Given the description of an element on the screen output the (x, y) to click on. 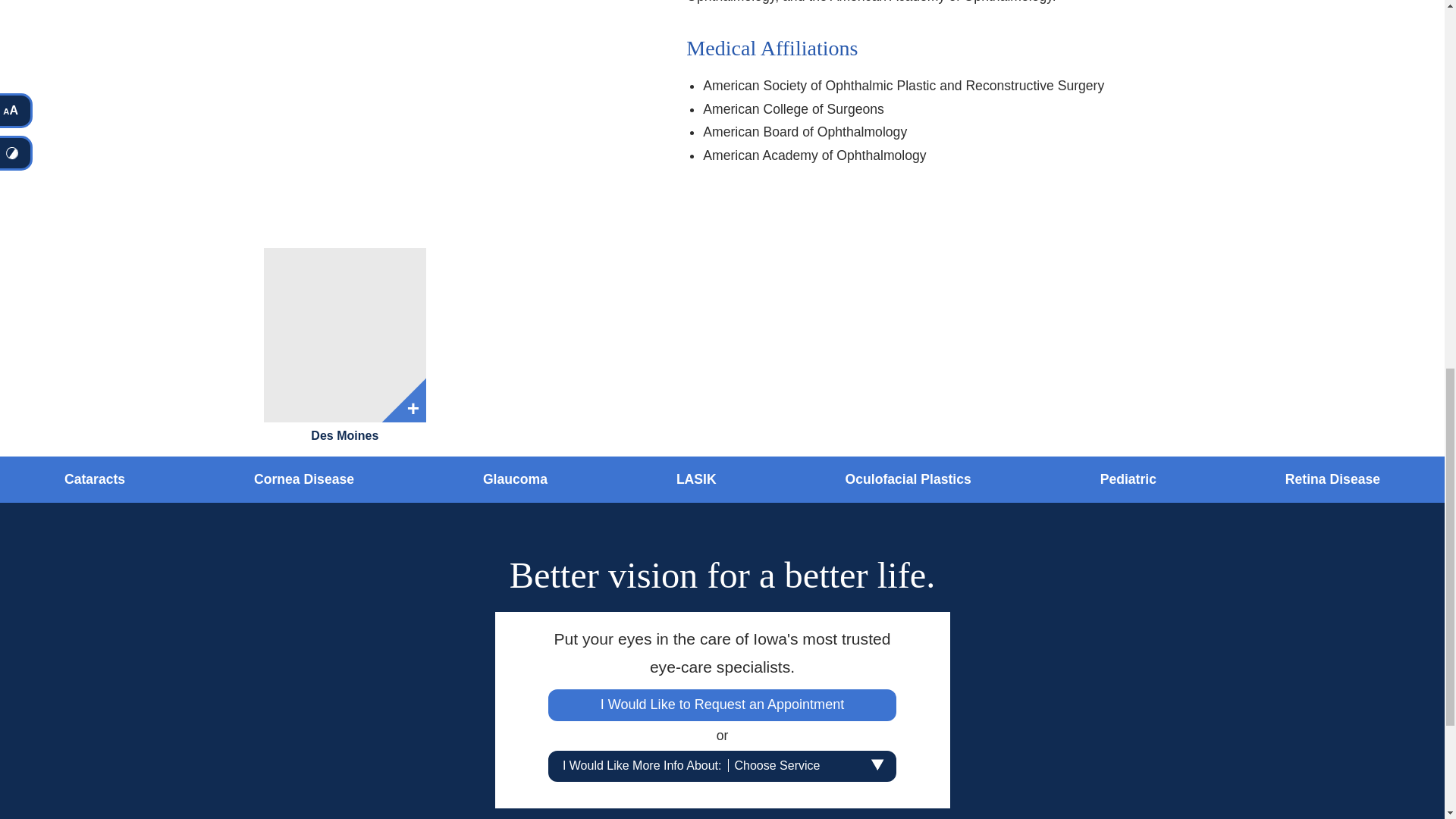
Des Moines (344, 335)
